Given the description of an element on the screen output the (x, y) to click on. 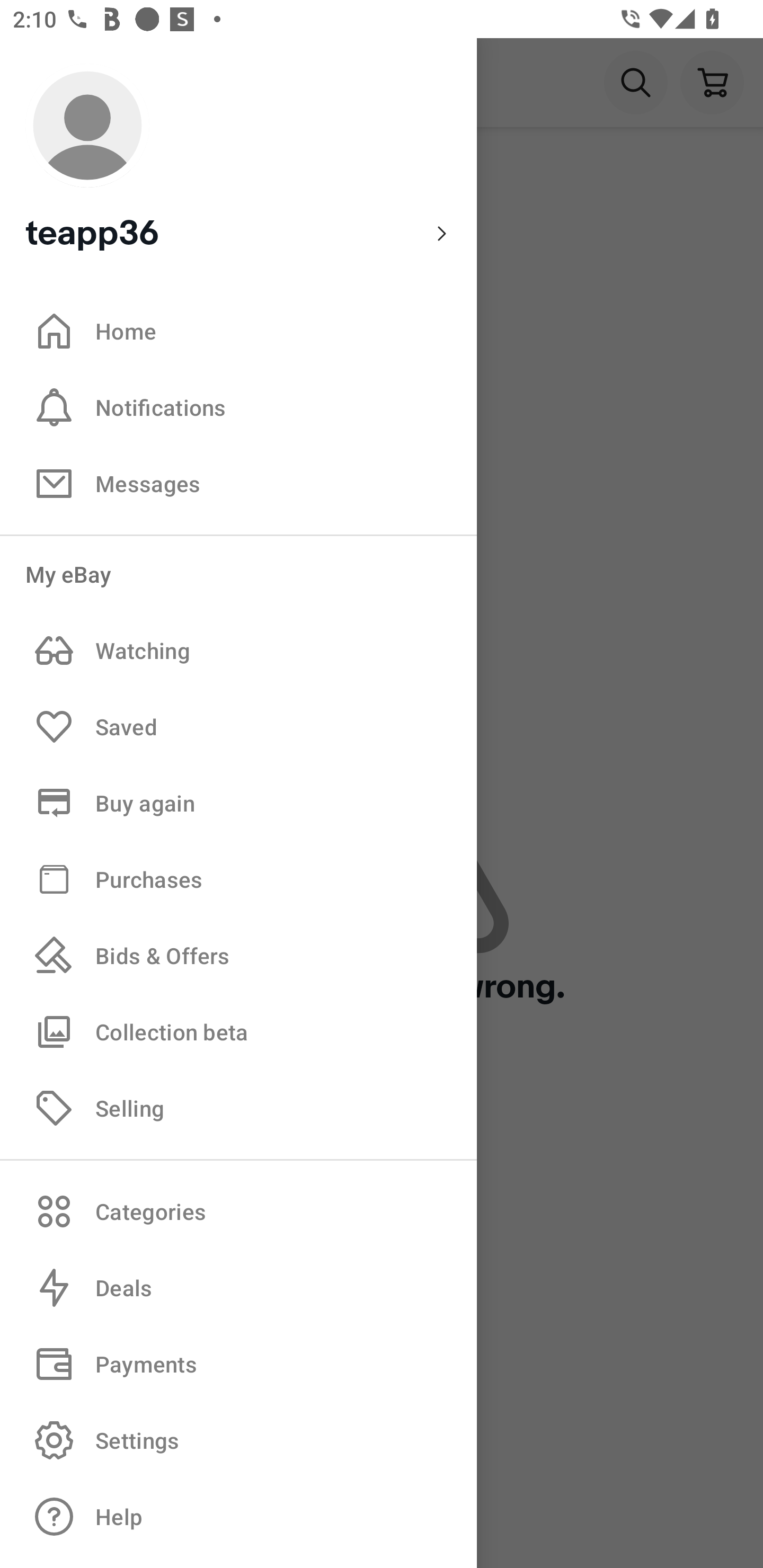
teapp36 (238, 158)
Home (238, 330)
Notifications (238, 406)
Messages (238, 483)
Watching (238, 650)
Saved (238, 726)
Buy again (238, 802)
Purchases (238, 878)
Bids & Offers (238, 955)
Collection beta (238, 1031)
Selling (238, 1107)
Categories (238, 1210)
Deals (238, 1287)
Payments (238, 1363)
Settings (238, 1439)
Help (238, 1516)
